Given the description of an element on the screen output the (x, y) to click on. 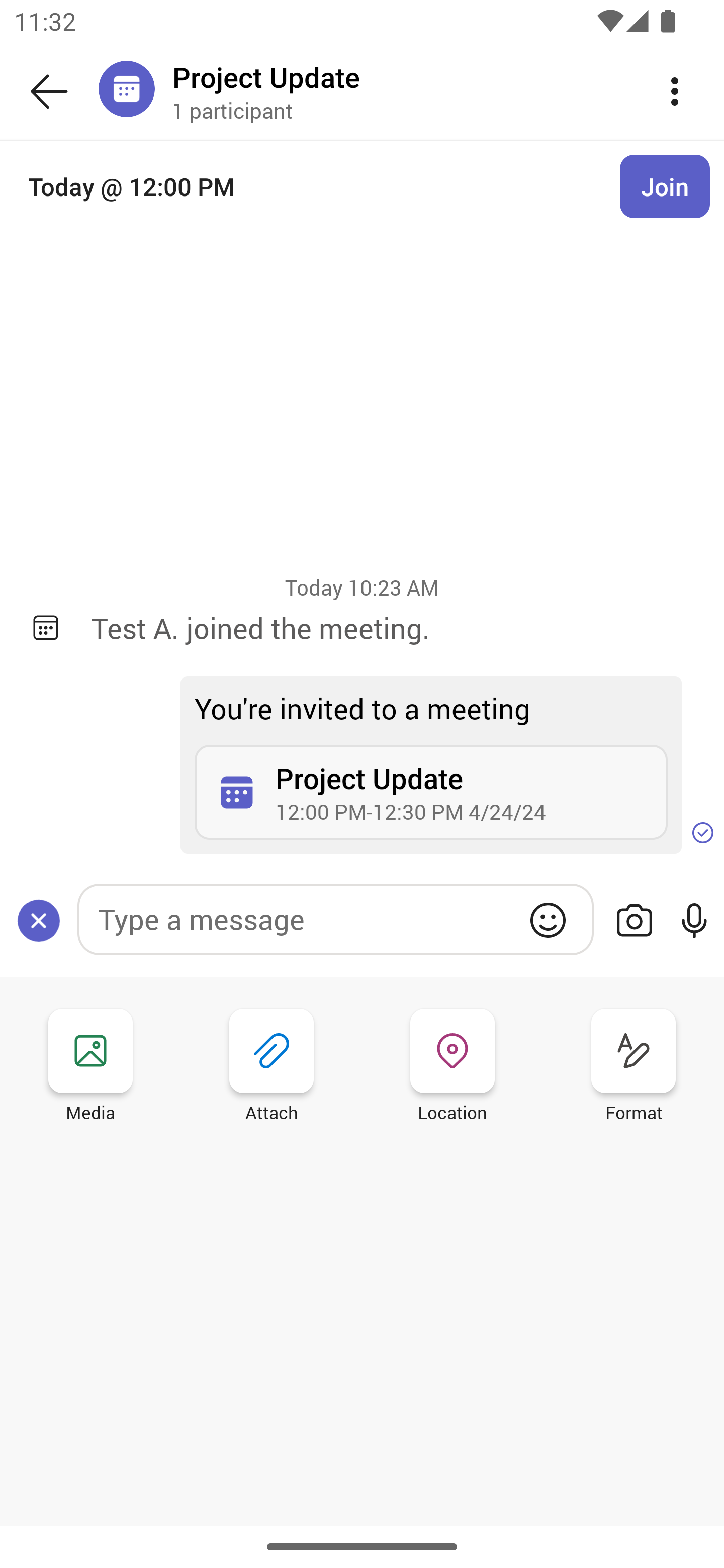
Back (49, 91)
More options (674, 90)
Project Update Project Update 1 participant (398, 90)
Join (664, 186)
Test A. joined the meeting. (393, 627)
Compose options, expanded (38, 920)
Button for loading camera action functionality (633, 920)
Type a message (335, 918)
GIFs and emojis picker (548, 919)
Media (90, 1068)
Attach (271, 1068)
Location (452, 1068)
Format (633, 1068)
